Given the description of an element on the screen output the (x, y) to click on. 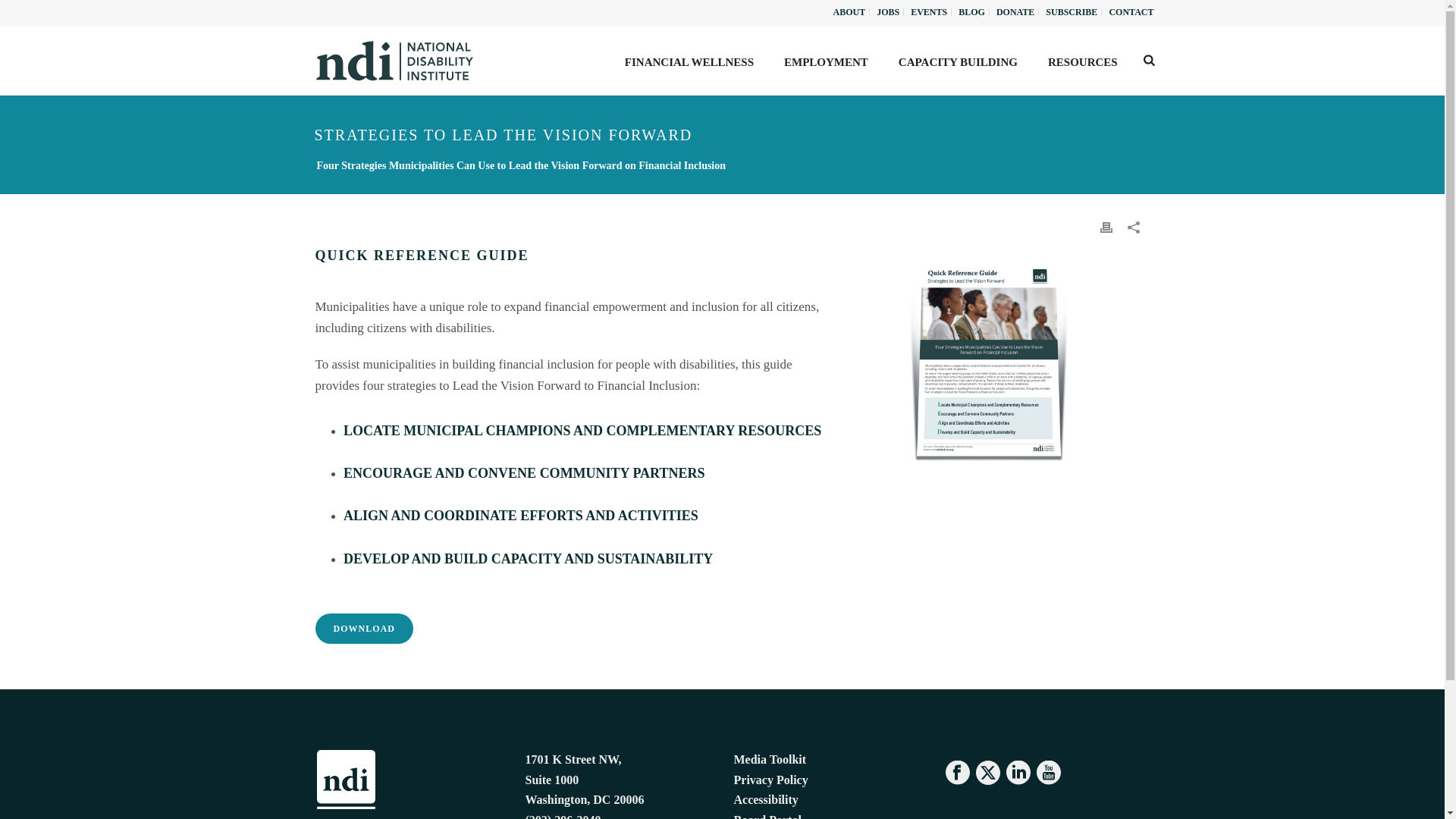
EMPLOYMENT (825, 60)
SUBSCRIBE (1072, 11)
CONTACT (1131, 11)
BLOG (972, 11)
ABOUT (848, 11)
National Disability Institue Logo (393, 60)
DOWNLOAD (364, 628)
ndi-footer-logomark (346, 779)
EVENTS (929, 11)
FINANCIAL WELLNESS (689, 60)
JOBS (888, 11)
FINANCIAL WELLNESS (689, 60)
CAPACITY BUILDING (957, 60)
DONATE (1015, 11)
CAPACITY BUILDING (957, 60)
